Given the description of an element on the screen output the (x, y) to click on. 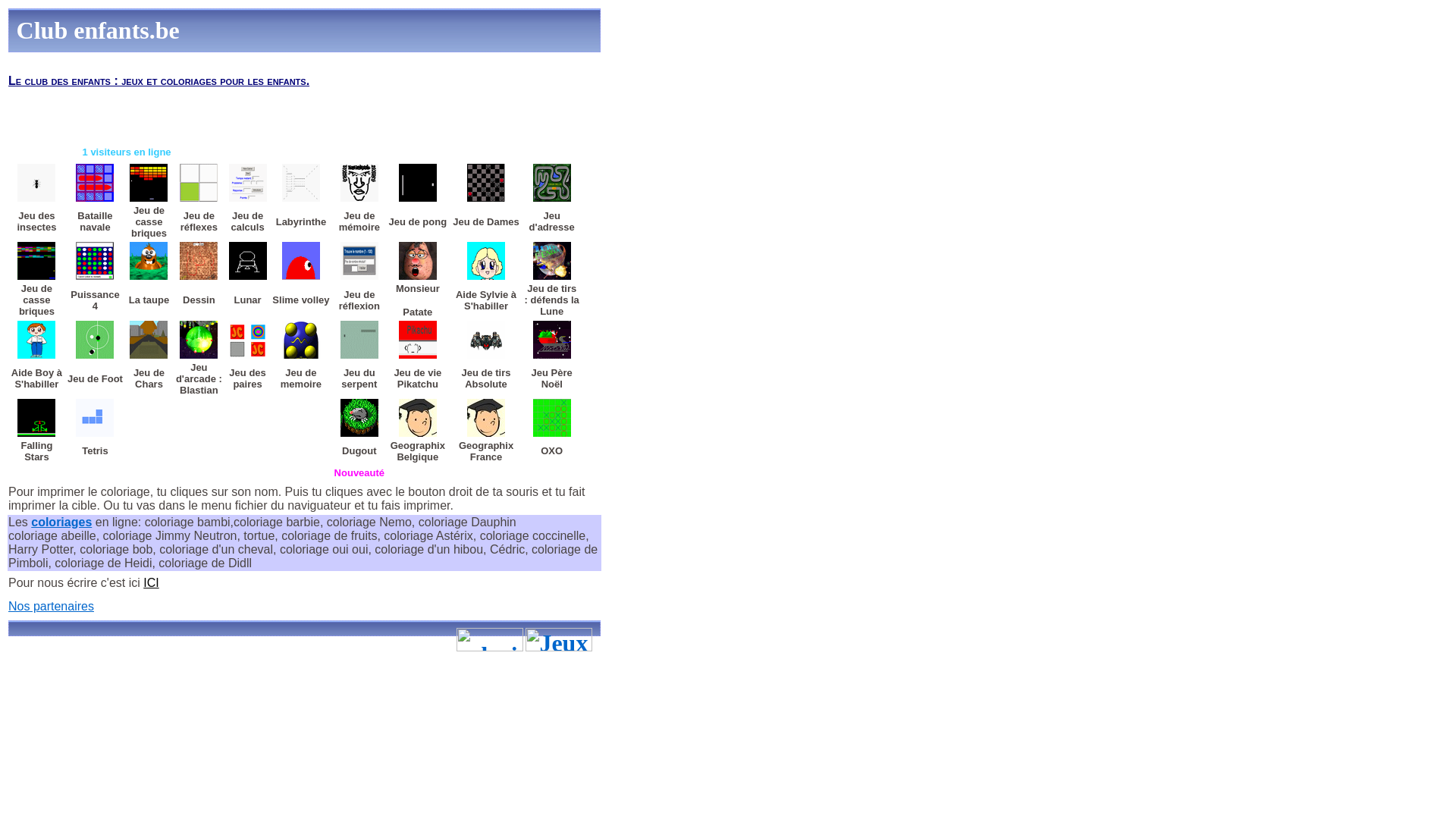
Jeu de foot Element type: hover (94, 339)
coloriages Element type: text (61, 521)
Jeux pour enfants Element type: hover (558, 639)
ICI Element type: text (150, 582)
Nos partenaires Element type: text (51, 605)
Advertisement Element type: hover (354, 132)
